Given the description of an element on the screen output the (x, y) to click on. 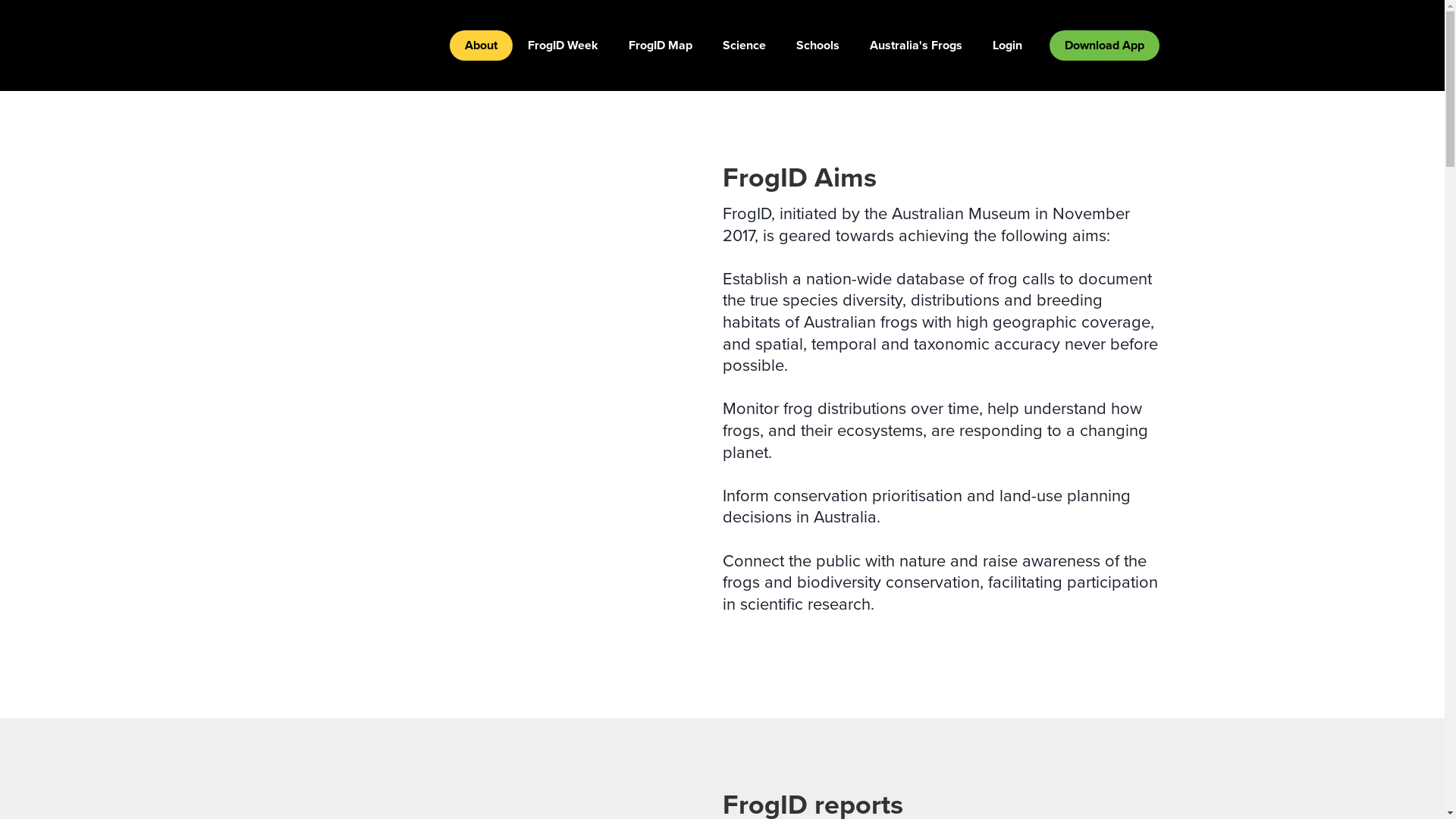
FrogID Week Element type: text (562, 44)
About Element type: text (479, 45)
Science Element type: text (743, 45)
Login Element type: text (1006, 45)
FrogID Week Element type: text (562, 45)
Schools Element type: text (817, 44)
Science Element type: text (743, 44)
Schools Element type: text (817, 45)
Australia's Frogs Element type: text (914, 44)
Login Element type: text (1006, 44)
Download App Element type: text (1104, 45)
FrogID Map Element type: text (659, 45)
About Element type: text (479, 45)
Australia's Frogs Element type: text (914, 45)
FrogID Map Element type: text (659, 44)
